Given the description of an element on the screen output the (x, y) to click on. 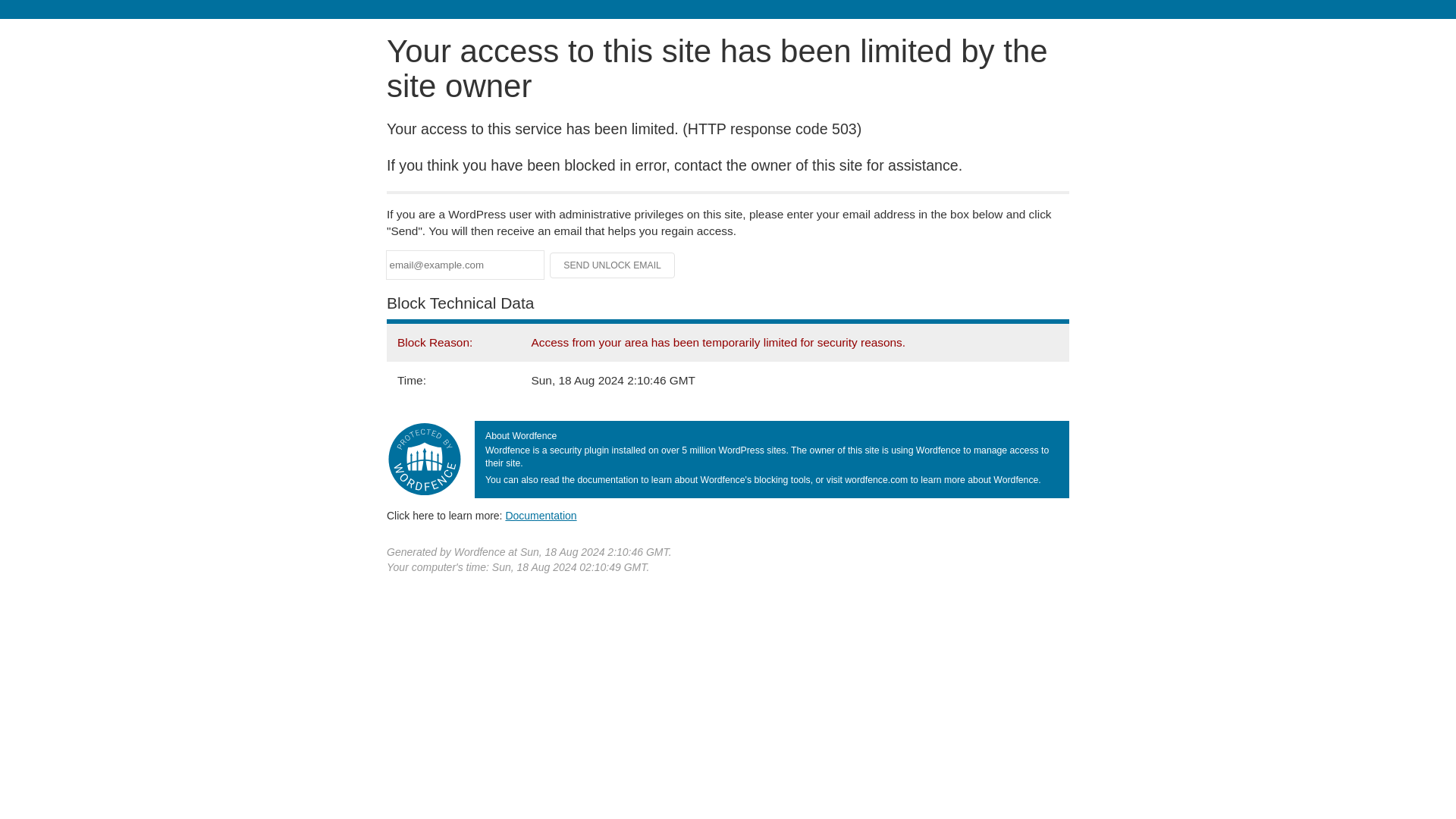
Send Unlock Email (612, 265)
Send Unlock Email (612, 265)
Documentation (540, 515)
